Given the description of an element on the screen output the (x, y) to click on. 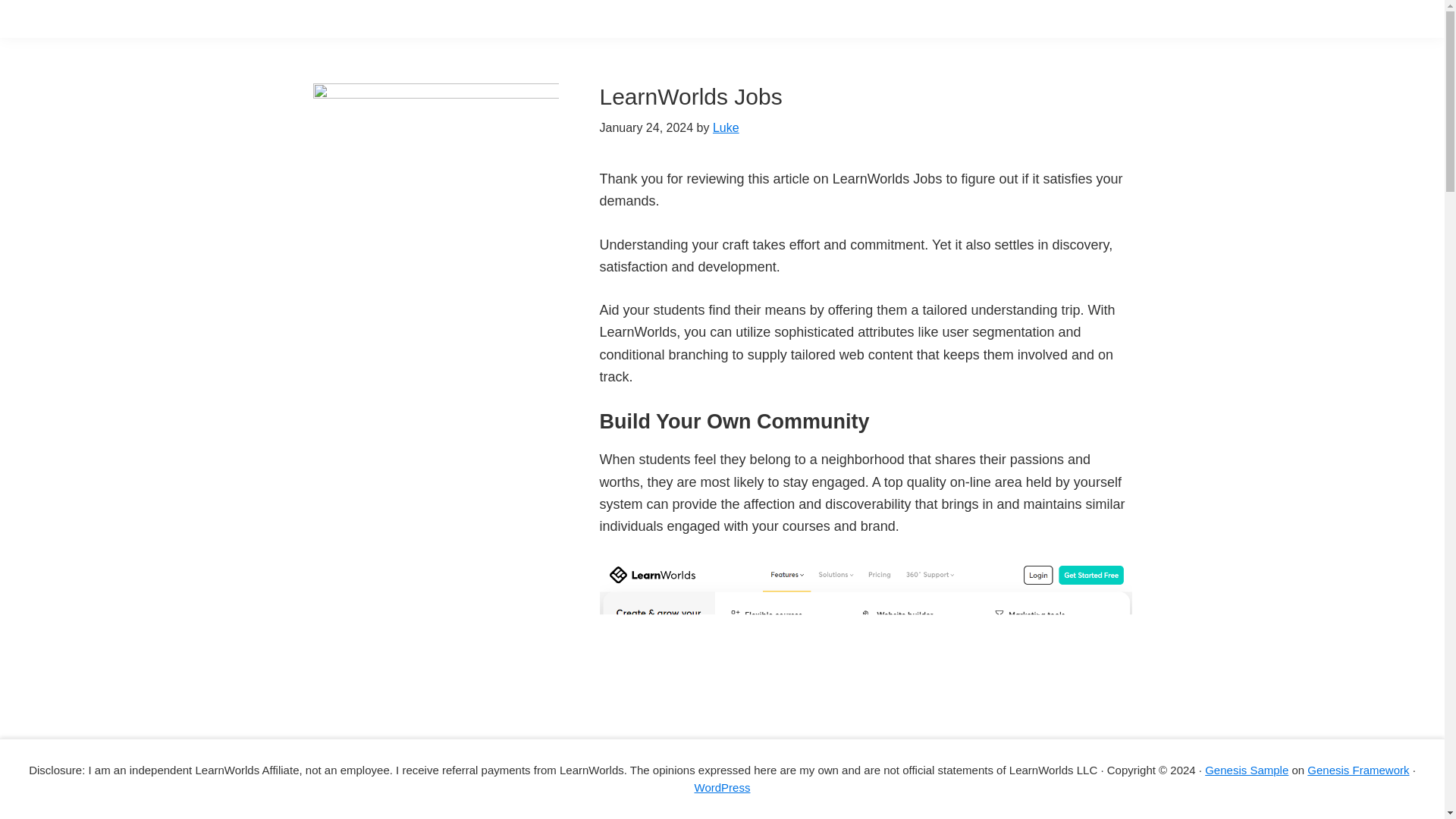
Luke (726, 127)
WordPress (722, 787)
Genesis Framework (1358, 769)
Genesis Sample (1246, 769)
